Given the description of an element on the screen output the (x, y) to click on. 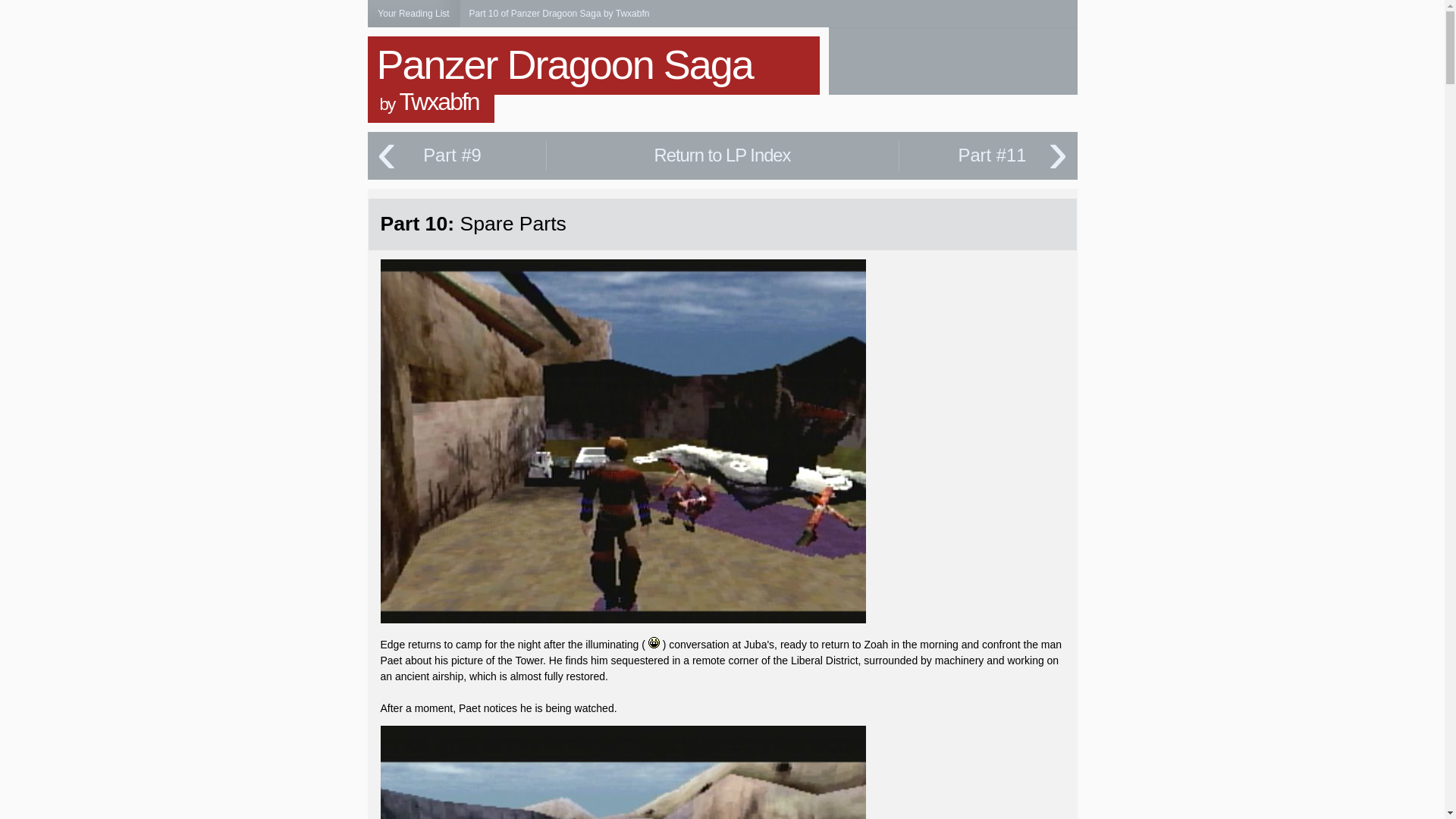
Click to expand and view your full reading list (413, 13)
Twxabfn (438, 101)
Part 10 of Panzer Dragoon Saga by Twxabfn (558, 13)
